Given the description of an element on the screen output the (x, y) to click on. 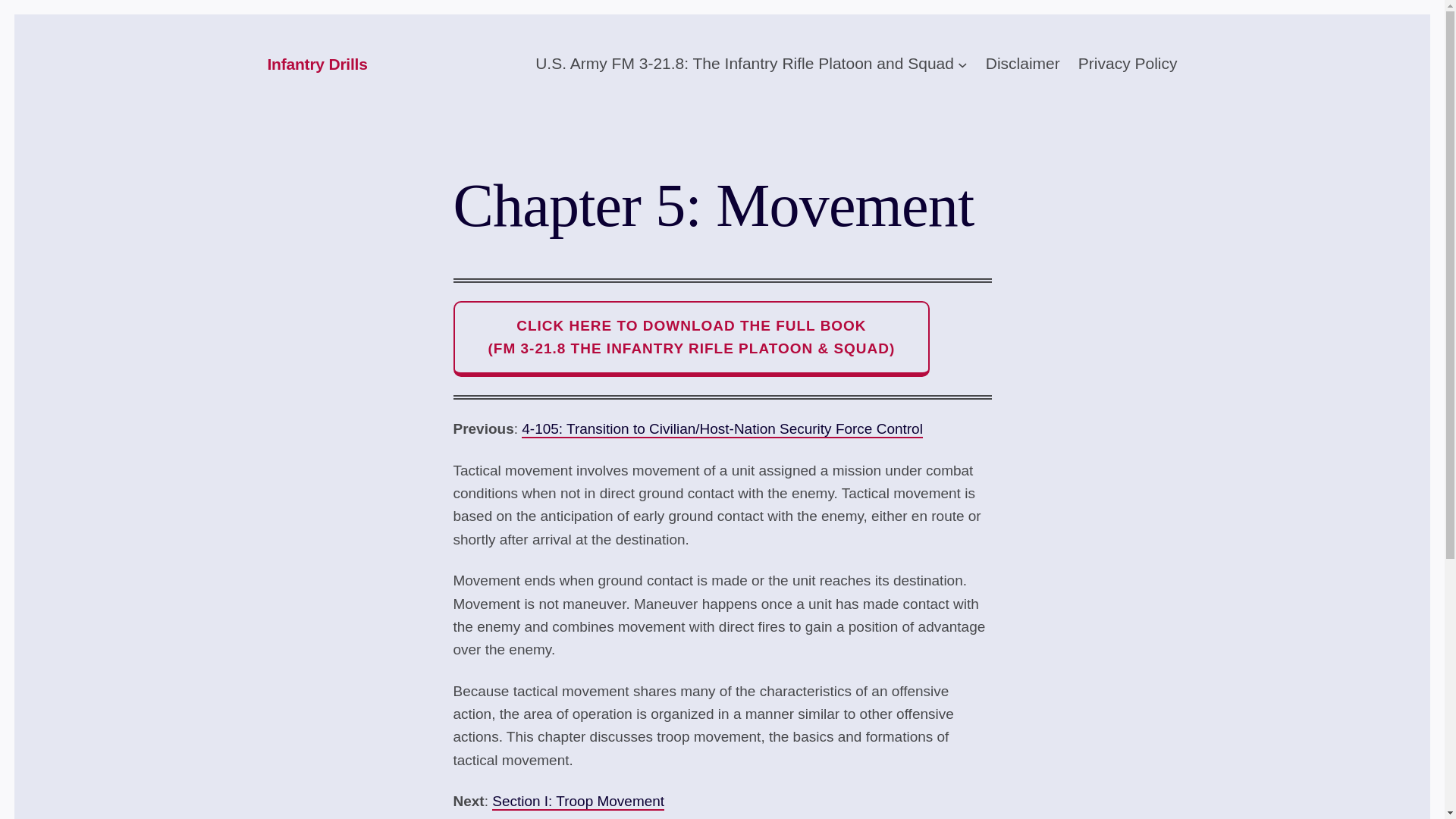
Infantry Drills (316, 64)
U.S. Army FM 3-21.8: The Infantry Rifle Platoon and Squad (744, 63)
